Given the description of an element on the screen output the (x, y) to click on. 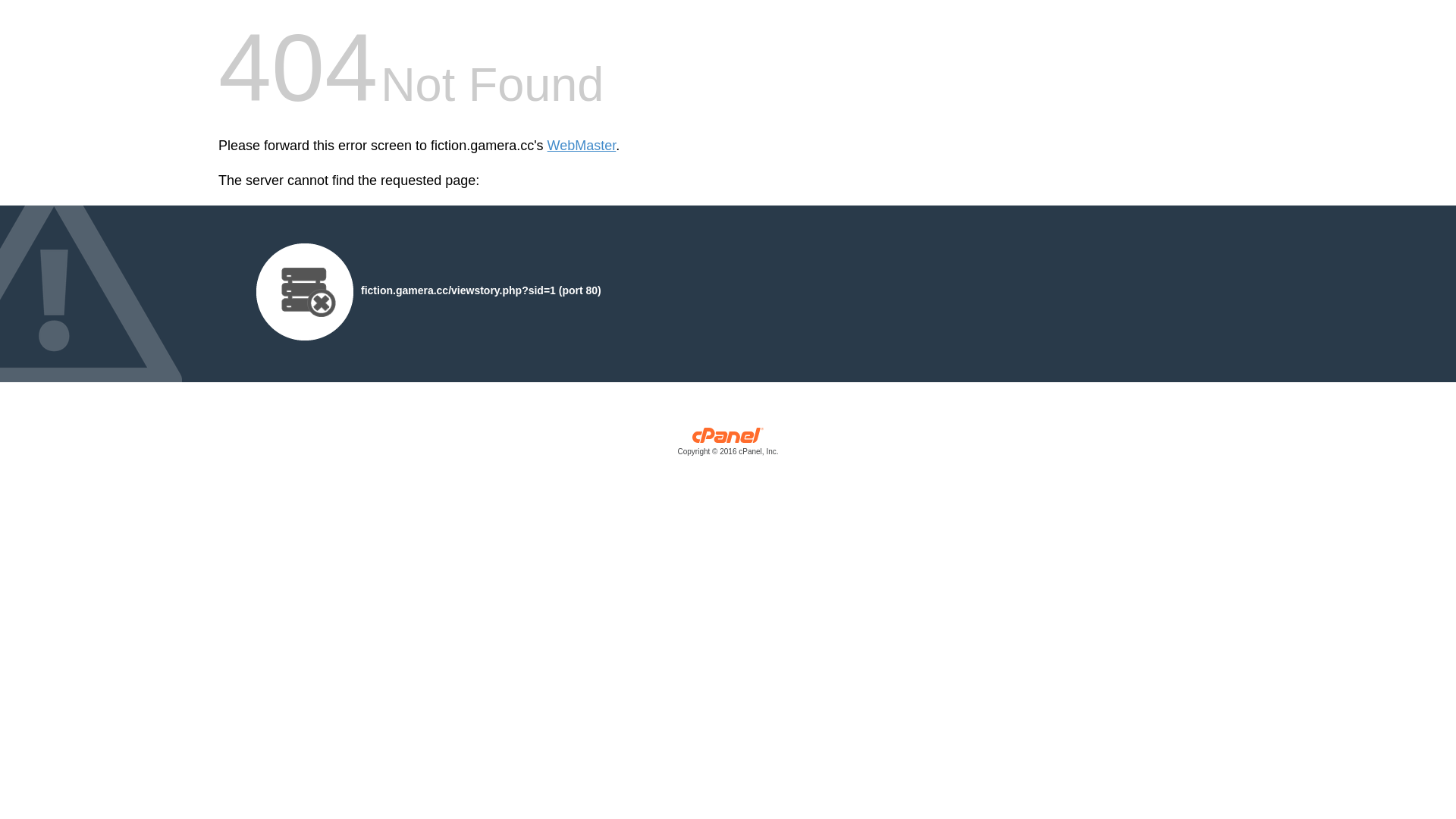
WebMaster Element type: text (581, 145)
